Given the description of an element on the screen output the (x, y) to click on. 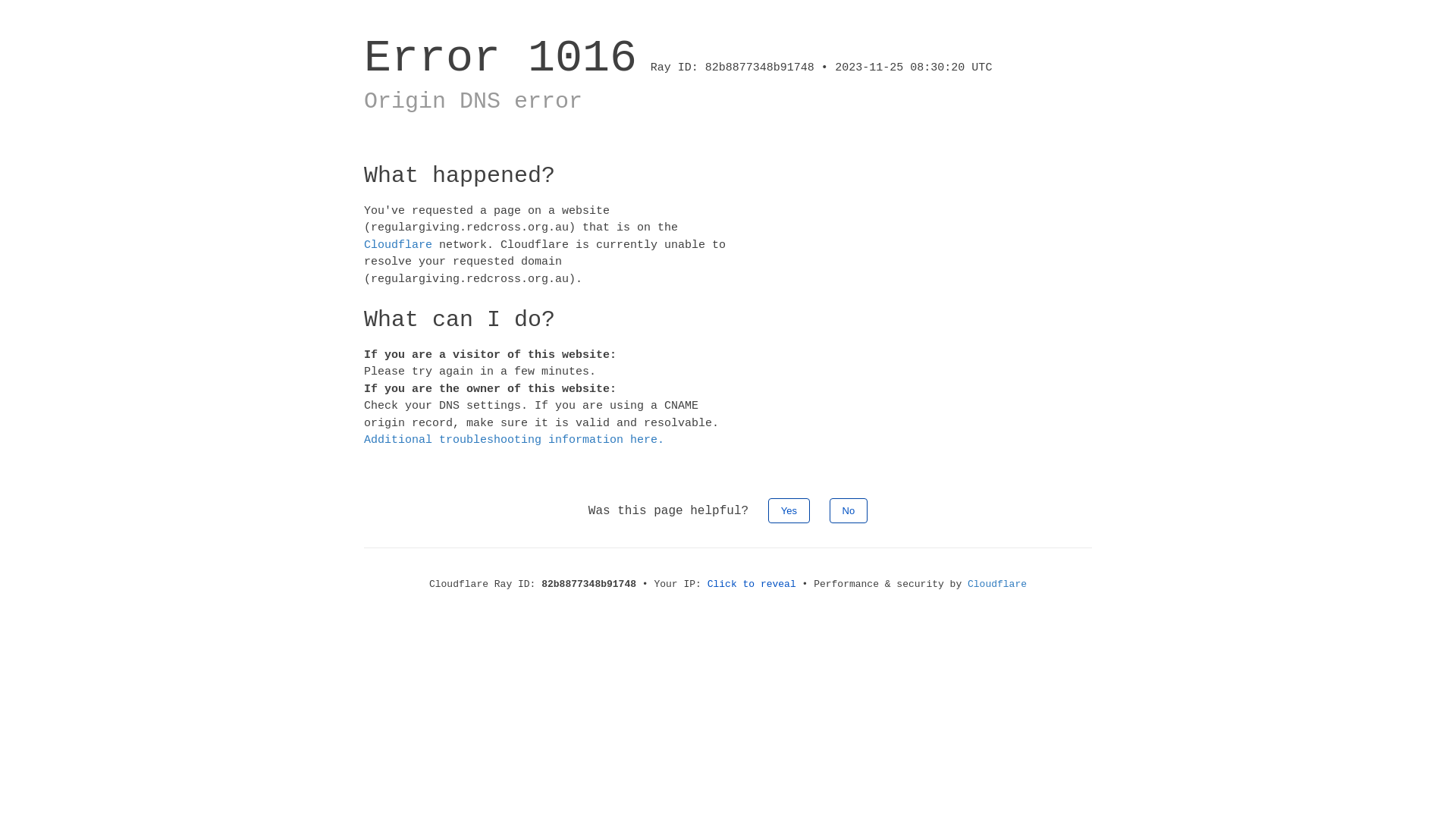
Click to reveal Element type: text (751, 583)
Cloudflare Element type: text (996, 583)
Cloudflare Element type: text (398, 244)
Additional troubleshooting information here. Element type: text (514, 439)
Yes Element type: text (788, 509)
No Element type: text (848, 509)
